Given the description of an element on the screen output the (x, y) to click on. 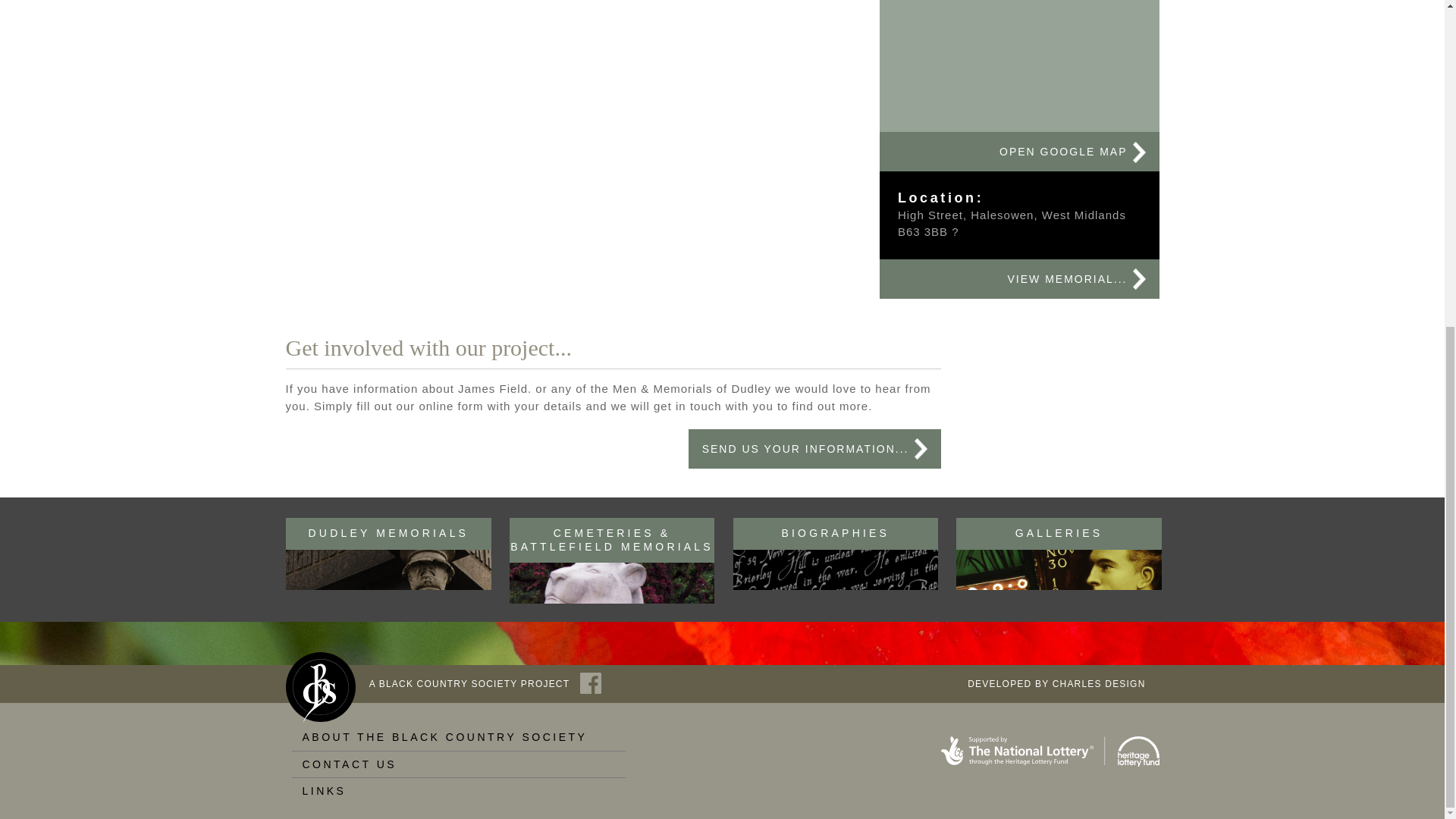
SEND US YOUR INFORMATION... (814, 448)
Find us on Facebook (476, 683)
DUDLEY MEMORIALS (387, 553)
GALLERIES (1058, 553)
DEVELOPED BY CHARLES DESIGN (1055, 683)
Developed by Charles Design (1055, 683)
BIOGRAPHIES (835, 553)
Send us your information... (814, 448)
Galleries (1058, 553)
Biographies (835, 553)
ABOUT THE BLACK COUNTRY SOCIETY (458, 737)
A BLACK COUNTRY SOCIETY PROJECT (476, 683)
Open in Google Maps for Directions (1018, 151)
Find us on Facebook (590, 682)
A Black Country Society Project (320, 686)
